Given the description of an element on the screen output the (x, y) to click on. 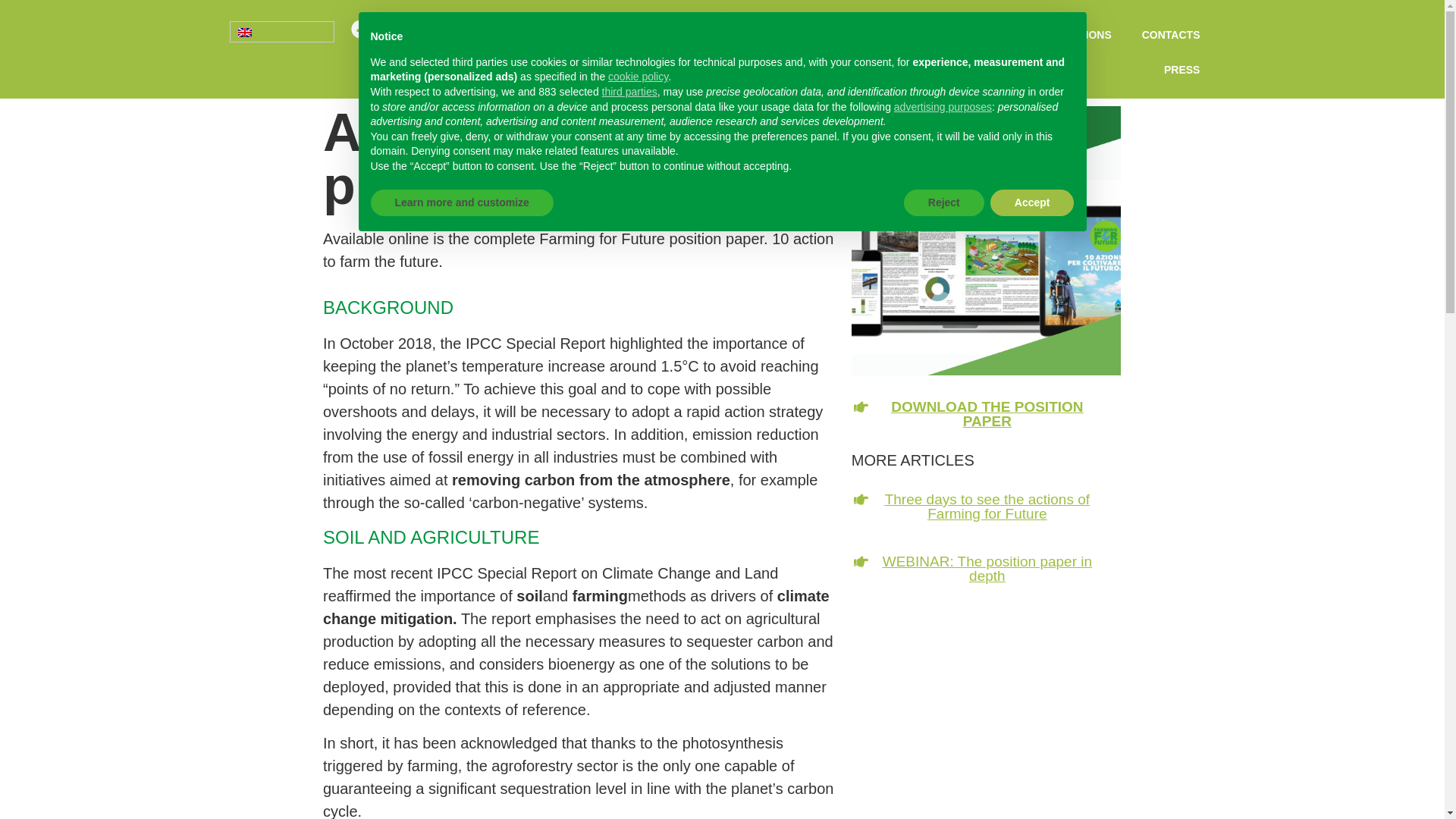
CONTACTS (1170, 34)
PRESS (1181, 69)
10 ACTIONS (1079, 34)
THE PROJECT (981, 34)
